Given the description of an element on the screen output the (x, y) to click on. 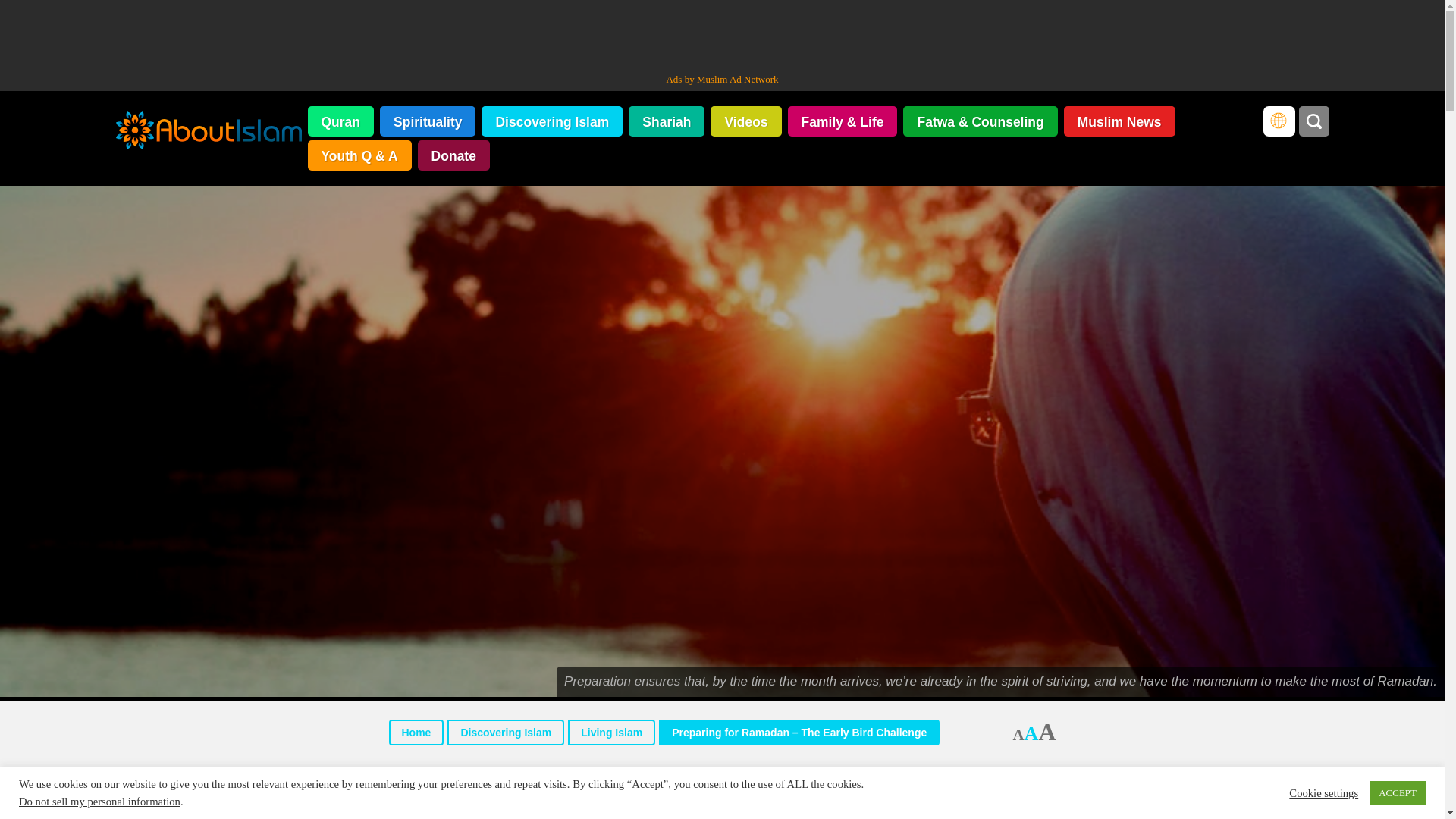
Home (416, 732)
Discovering Islam (552, 121)
About Islam (208, 132)
3rd party ad content (721, 33)
Discovering Islam (505, 732)
Search (1312, 121)
Spirituality (428, 121)
Shariah (666, 121)
Quran (340, 121)
Donate (453, 155)
Search (1312, 121)
Home (416, 732)
Ads by Muslim Ad Network (721, 79)
Living Islam (611, 732)
Videos (745, 121)
